Given the description of an element on the screen output the (x, y) to click on. 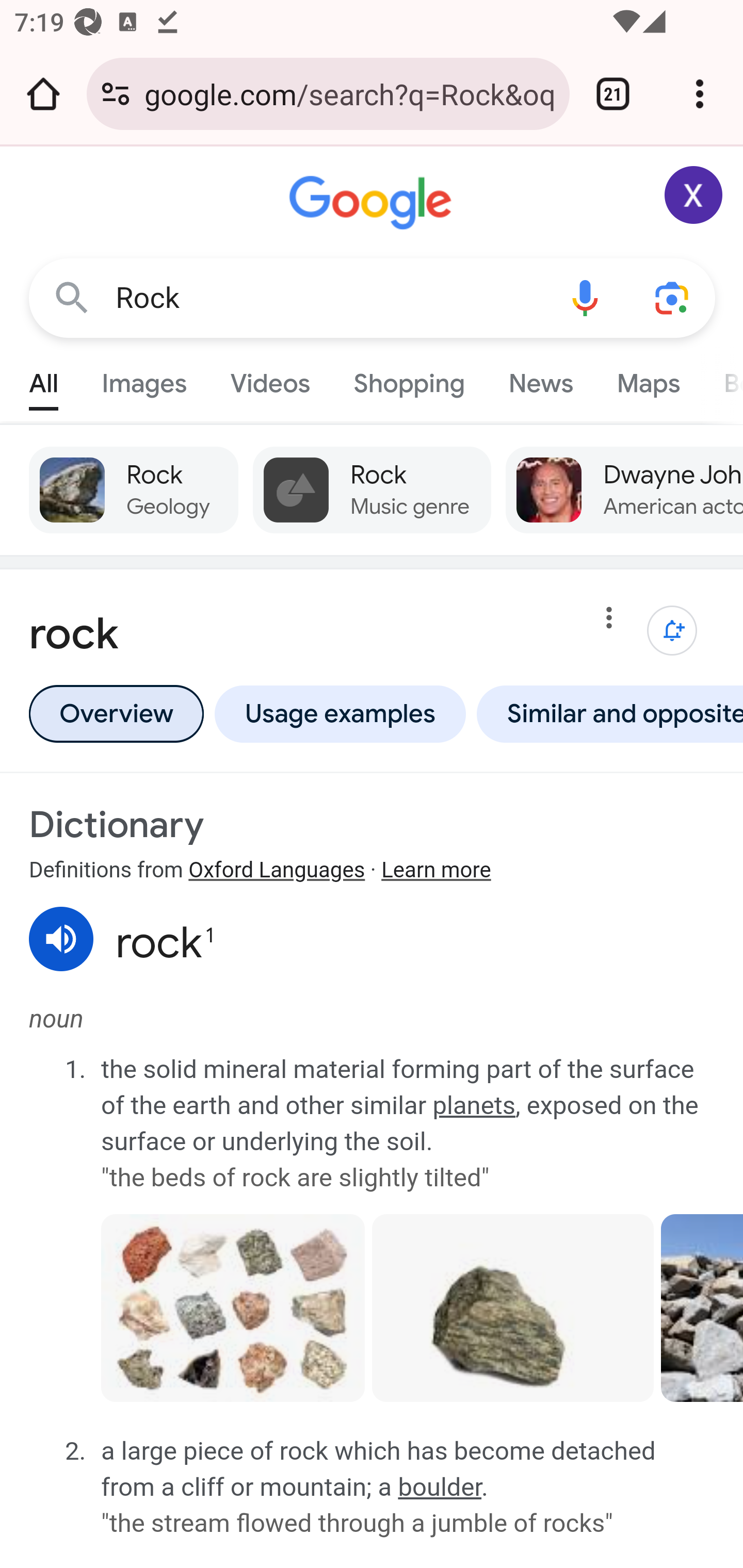
Open the home page (43, 93)
Connection is secure (115, 93)
Switch or close tabs (612, 93)
Customize and control Google Chrome (699, 93)
Google (372, 203)
Google Account: Xiaoran (zxrappiumtest@gmail.com) (694, 195)
Google Search (71, 296)
Search using your camera or photos (672, 296)
Rock (328, 297)
Images (144, 378)
Videos (270, 378)
Shopping (408, 378)
News (540, 378)
Maps (647, 378)
Rock Geology Rock Geology (133, 489)
Rock Music genre Rock Music genre (372, 489)
Get notifications about Word of the day (672, 630)
More options (609, 620)
Overview (116, 713)
Usage examples (340, 713)
Similar and opposite words (606, 713)
Oxford Languages (276, 870)
Learn more (435, 870)
 Listen  (61, 939)
planets (473, 1105)
boulder (439, 1486)
